Given the description of an element on the screen output the (x, y) to click on. 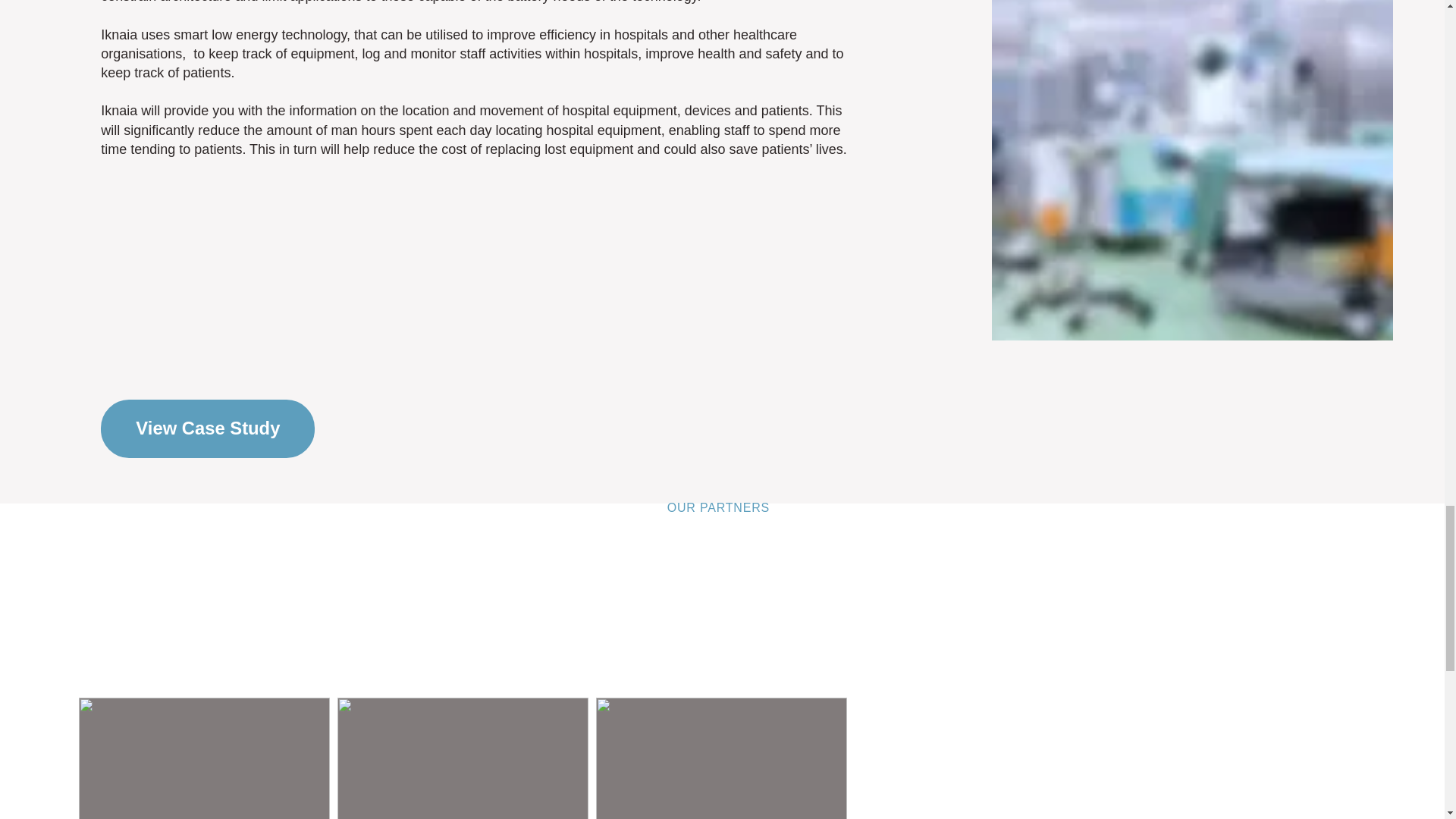
View Case Study (207, 428)
